Given the description of an element on the screen output the (x, y) to click on. 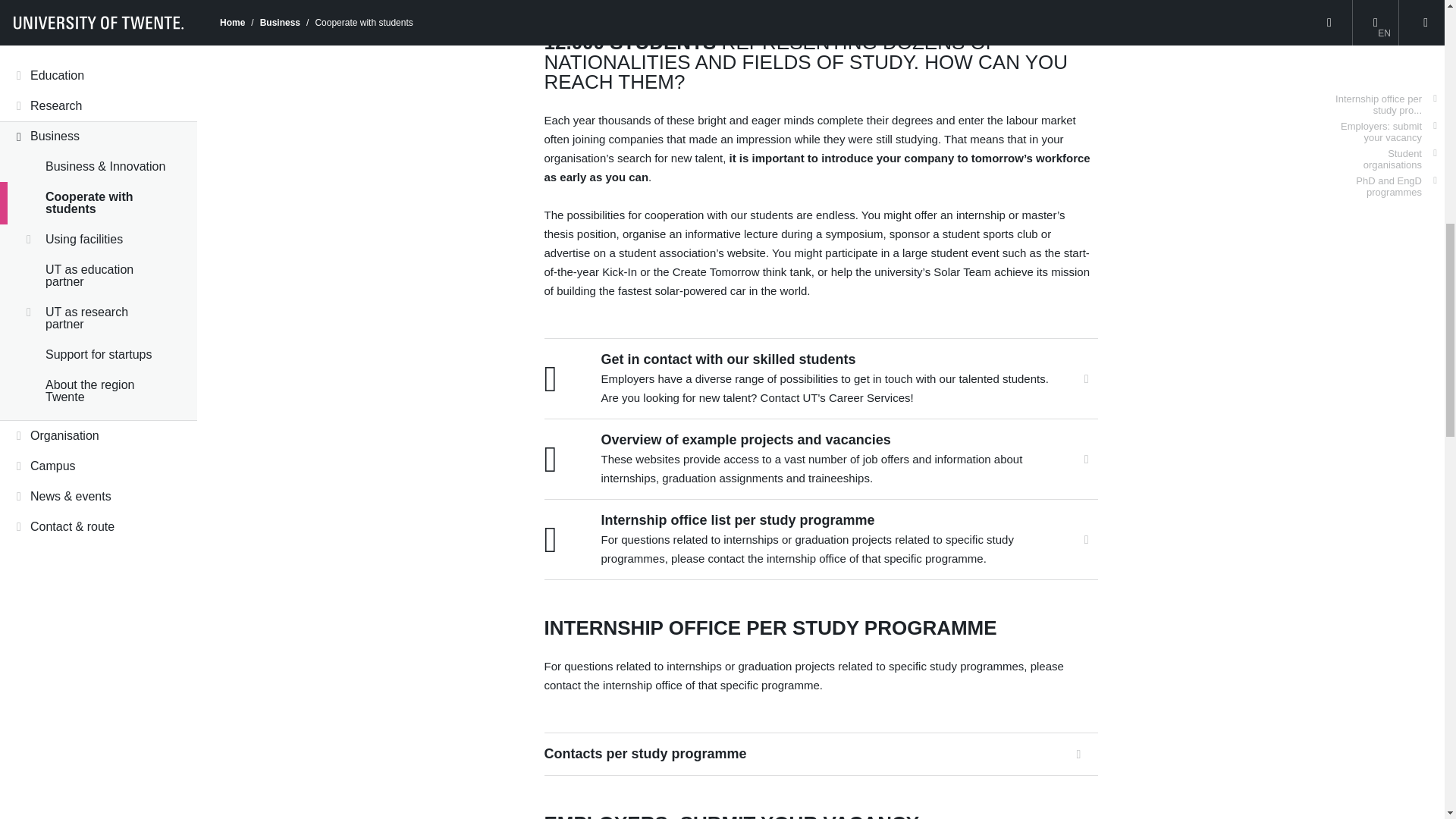
Student organisations (1383, 88)
Internship office per study pro... (1383, 33)
Student organisations (1383, 88)
PhD and EngD programmes (1383, 115)
Employers: submit your vacancy (1383, 61)
Employers: submit your vacancy (1383, 61)
Internship office per study programme (1383, 33)
